Given the description of an element on the screen output the (x, y) to click on. 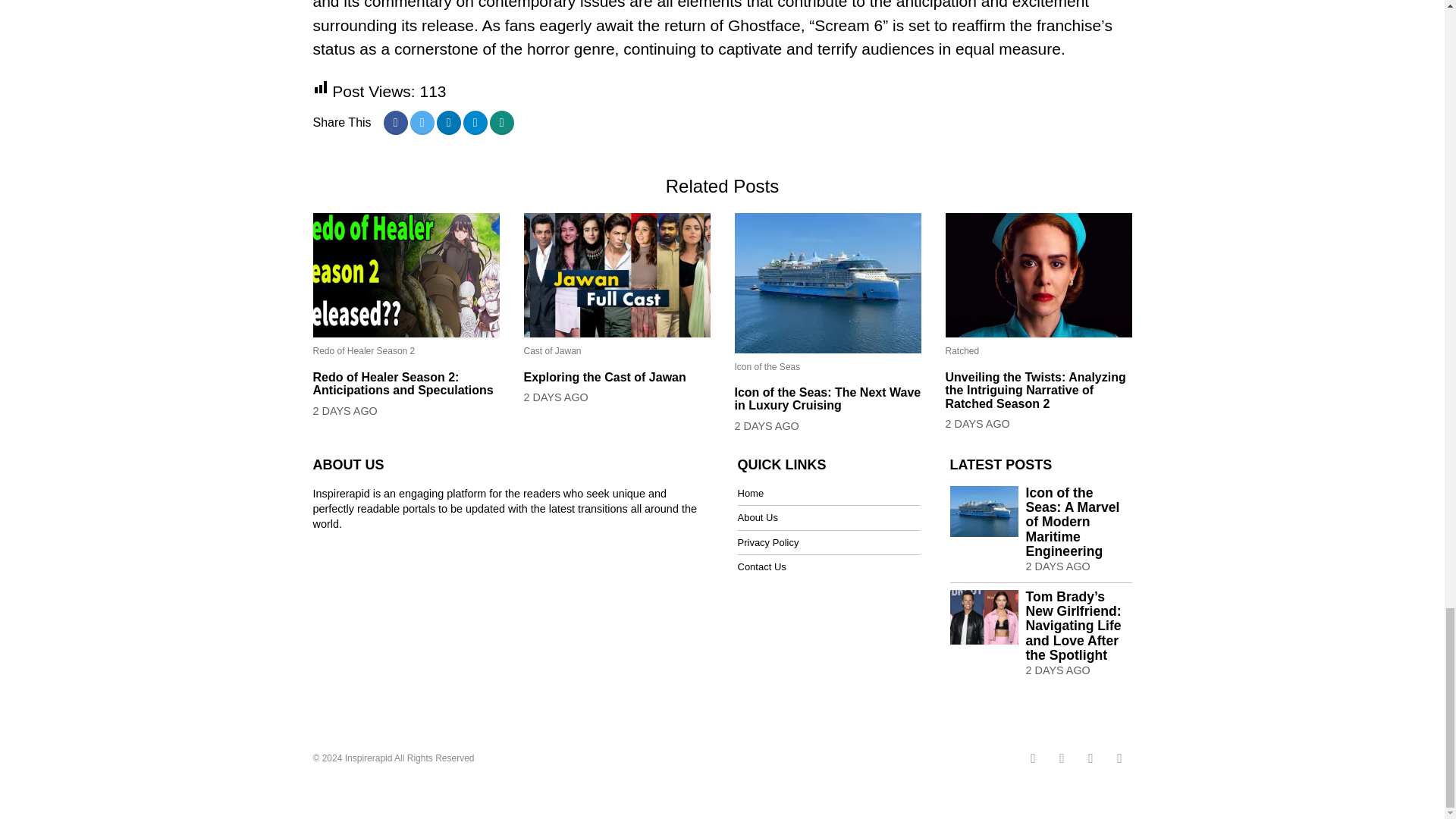
05 Aug, 2024 18:06:50 (345, 410)
05 Aug, 2024 12:41:56 (765, 426)
05 Aug, 2024 12:36:55 (976, 423)
Icon of the Seas: The Next Wave in Luxury Cruising (826, 398)
05 Aug, 2024 18:25:50 (1057, 566)
05 Aug, 2024 12:55:58 (555, 396)
Exploring the Cast of Jawan (616, 377)
Redo of Healer Season 2: Anticipations and Speculations (406, 384)
05 Aug, 2024 18:23:50 (1057, 670)
